Given the description of an element on the screen output the (x, y) to click on. 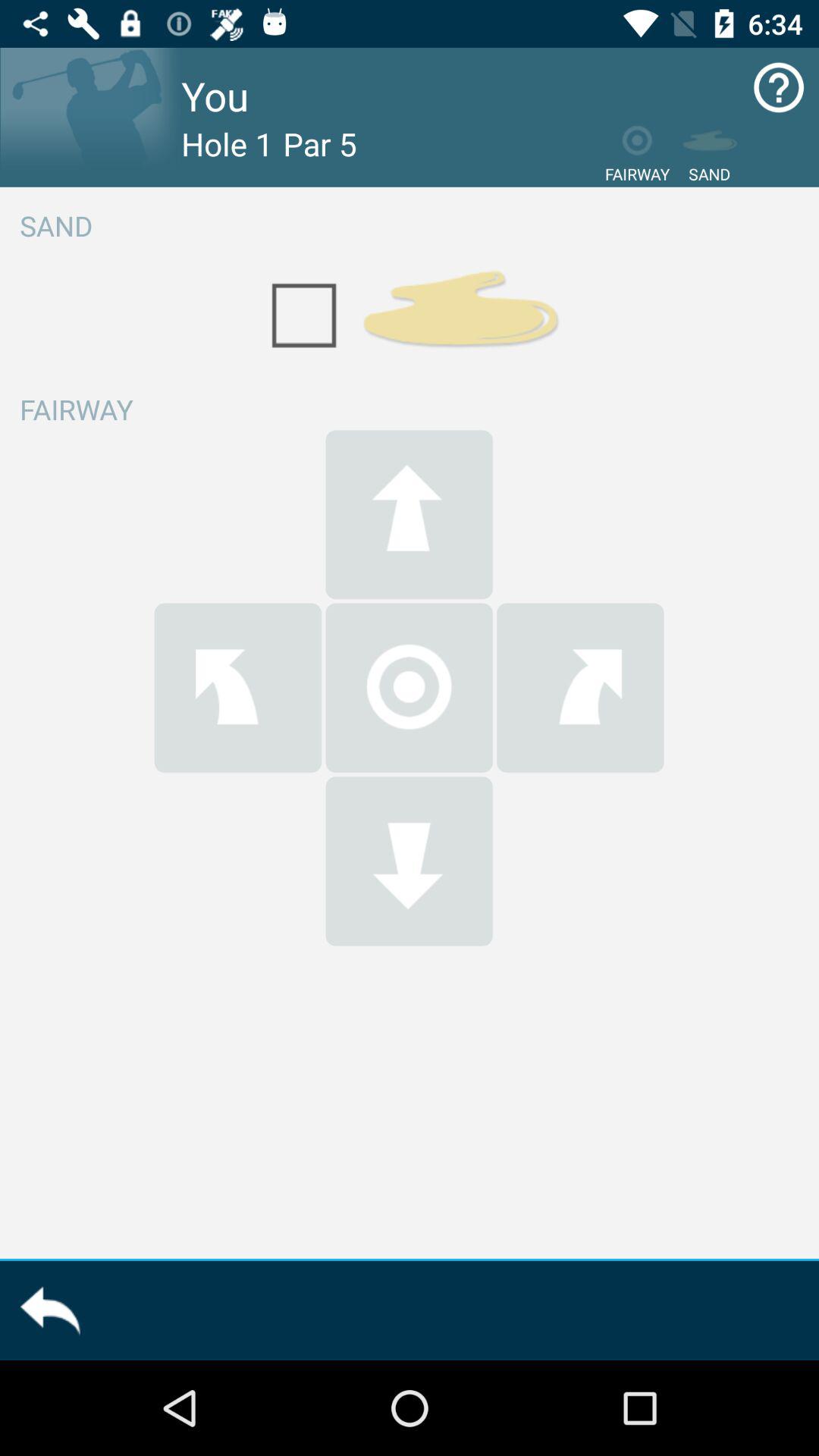
help (778, 87)
